Given the description of an element on the screen output the (x, y) to click on. 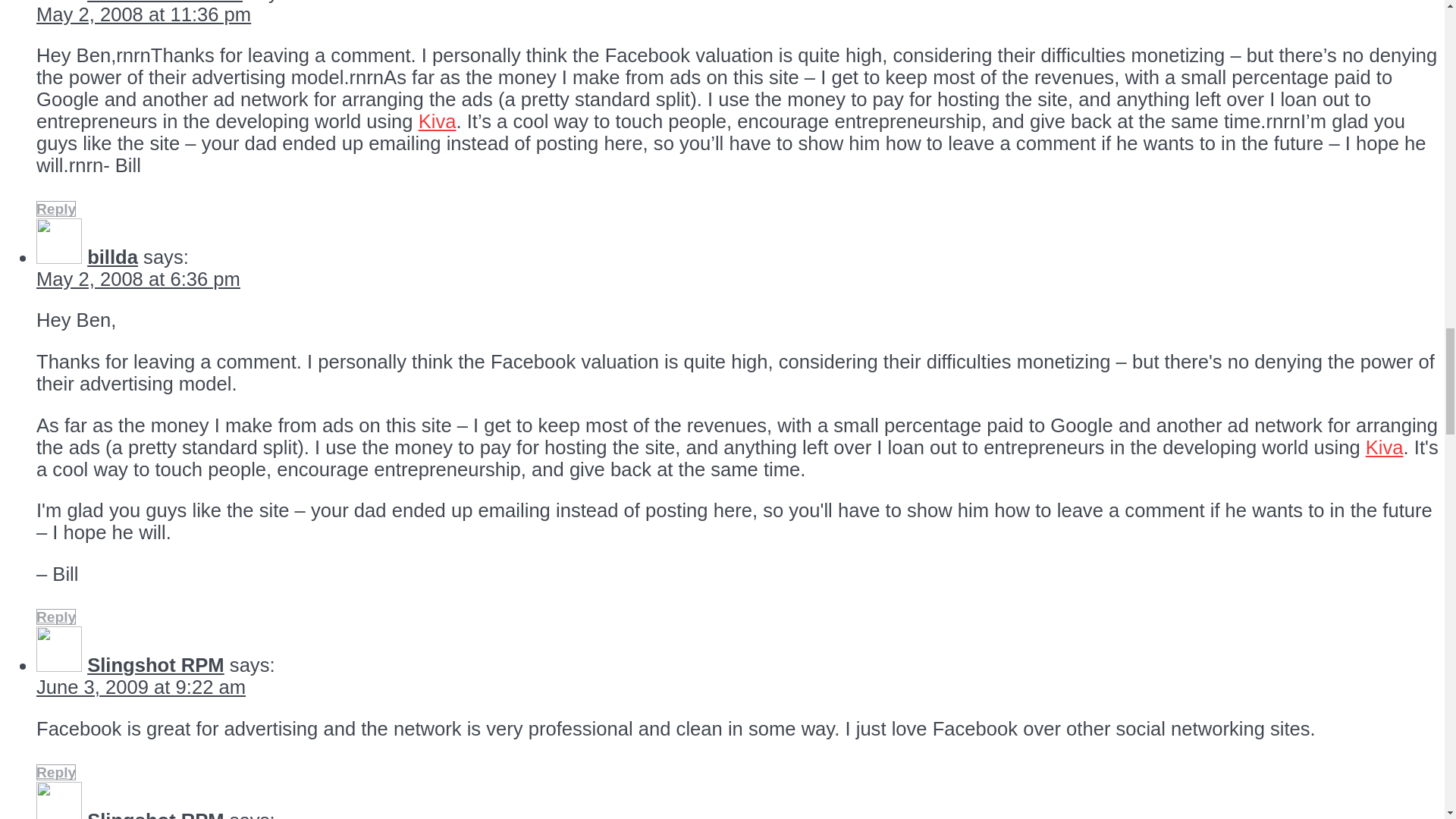
Reply (55, 616)
June 3, 2009 at 9:22 am (141, 686)
Kiva (438, 120)
Slingshot RPM (155, 664)
May 2, 2008 at 6:36 pm (138, 278)
Kiva (1384, 446)
Reply (55, 772)
Bill DAlessandro (165, 1)
billda (112, 256)
Reply (55, 208)
